Given the description of an element on the screen output the (x, y) to click on. 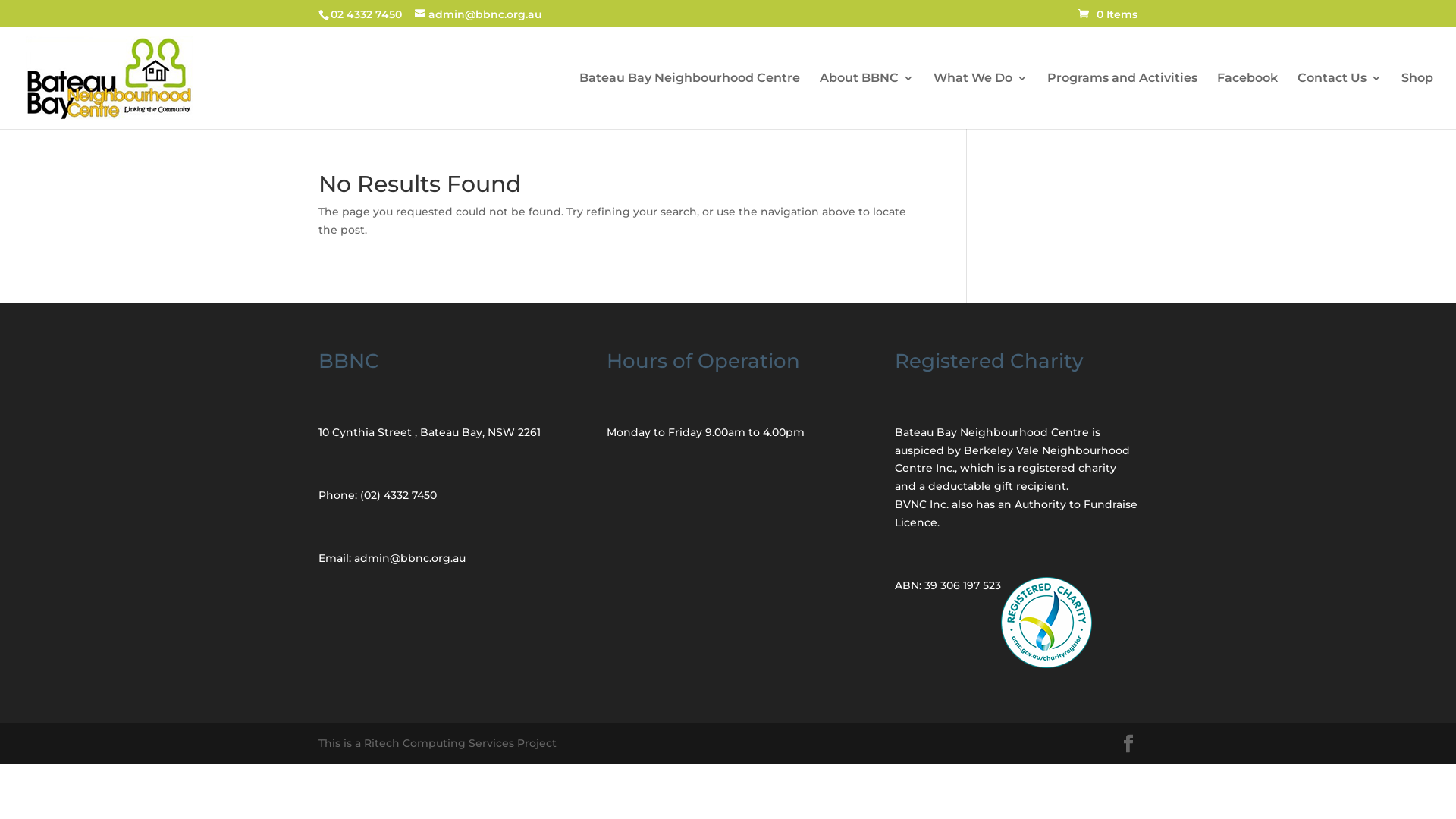
Shop Element type: text (1417, 100)
Bateau Bay Neighbourhood Centre Element type: text (689, 100)
Contact Us Element type: text (1339, 100)
0 Items Element type: text (1107, 14)
What We Do Element type: text (980, 100)
admin@bbnc.org.au Element type: text (478, 14)
About BBNC Element type: text (866, 100)
Facebook Element type: text (1247, 100)
Programs and Activities Element type: text (1122, 100)
